Given the description of an element on the screen output the (x, y) to click on. 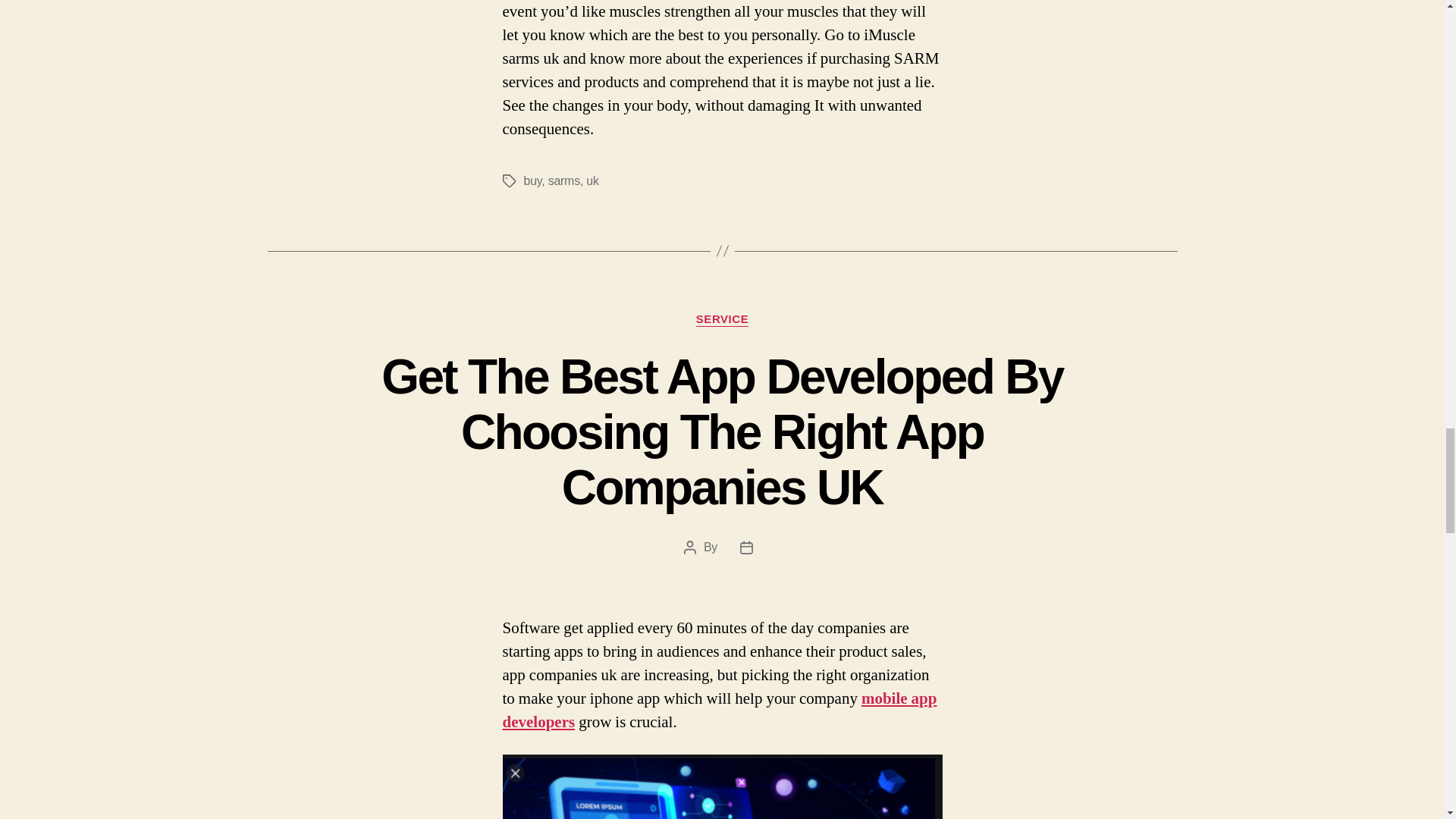
mobile app developers (719, 710)
buy (531, 180)
sarms (563, 180)
SERVICE (721, 319)
uk (592, 180)
